Given the description of an element on the screen output the (x, y) to click on. 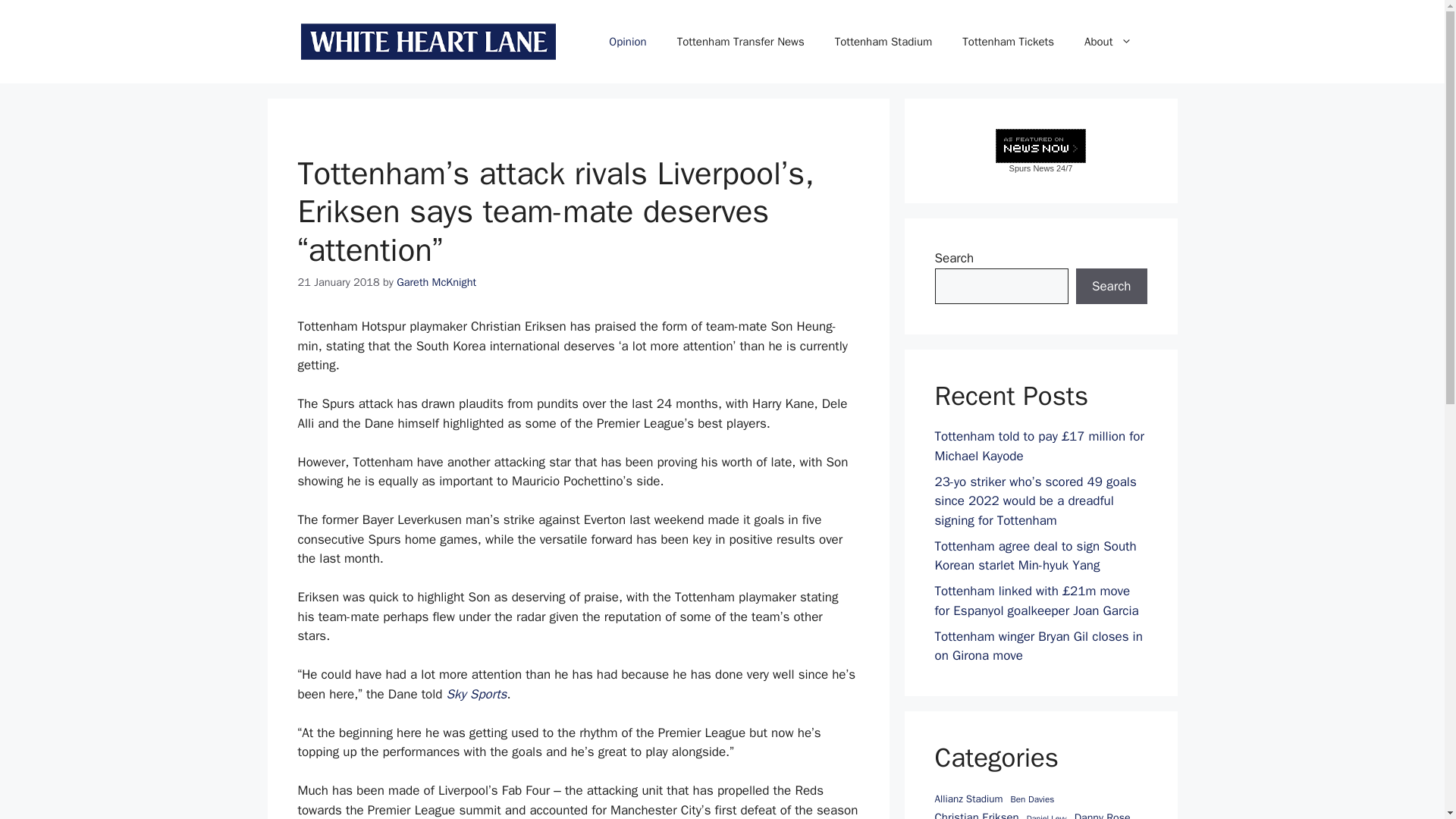
Ben Davies (1032, 799)
Tottenham winger Bryan Gil closes in on Girona move (1037, 645)
Danny Rose (1102, 814)
Allianz Stadium (968, 798)
Opinion (627, 41)
Gareth McKnight (436, 282)
Sky Sports (476, 693)
Tottenham Stadium (883, 41)
Search (1111, 286)
View all posts by Gareth McKnight (436, 282)
Christian Eriksen (975, 814)
Daniel Levy (1046, 816)
Tottenham Tickets (1007, 41)
Tottenham Transfer News (740, 41)
Click here for more Tottenham Hotspur news from NewsNow (1040, 150)
